Given the description of an element on the screen output the (x, y) to click on. 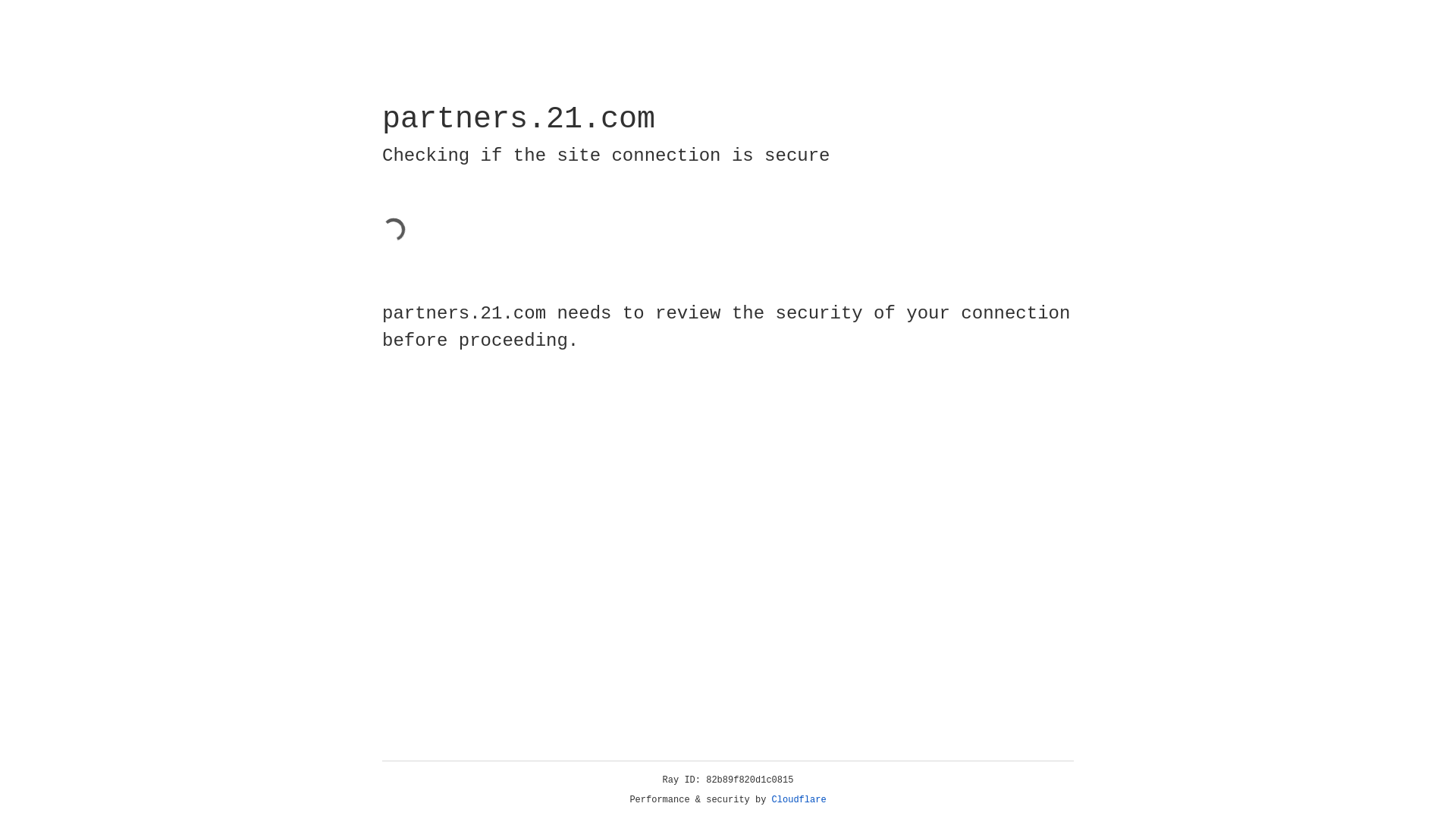
Cloudflare Element type: text (798, 799)
